Given the description of an element on the screen output the (x, y) to click on. 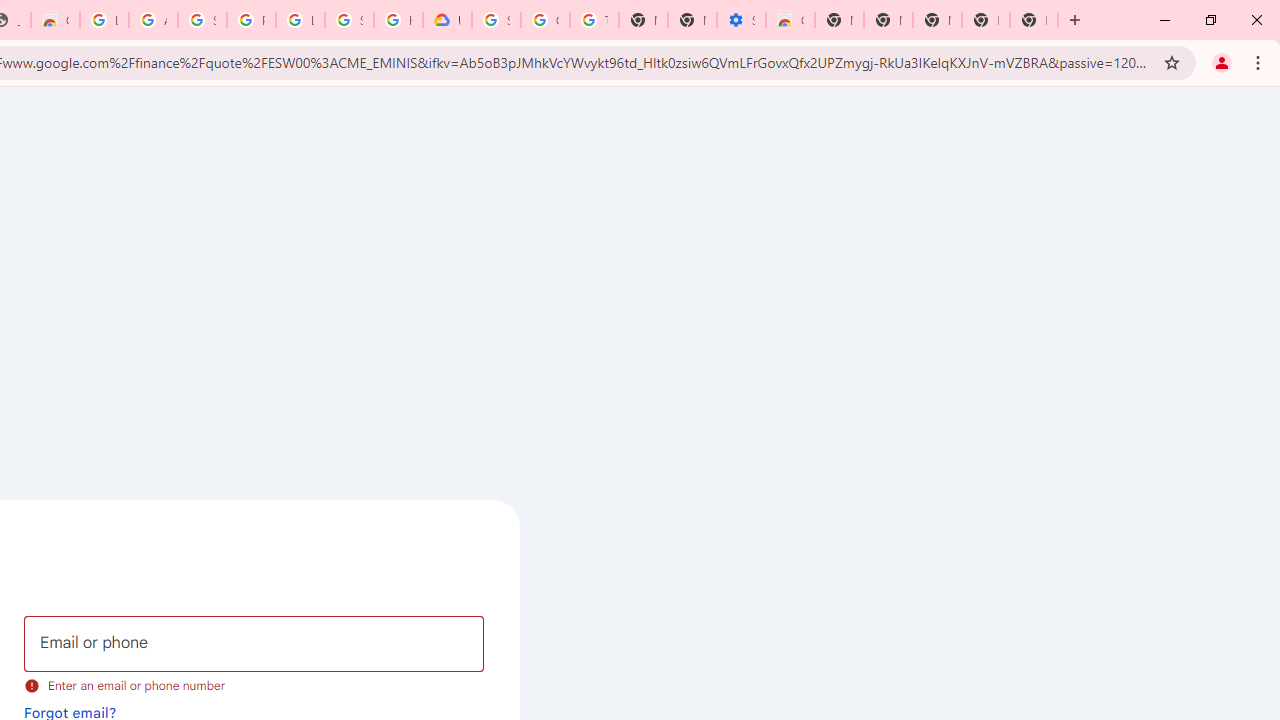
Google Account Help (545, 20)
Email or phone (253, 643)
Sign in - Google Accounts (496, 20)
Sign in - Google Accounts (349, 20)
